Given the description of an element on the screen output the (x, y) to click on. 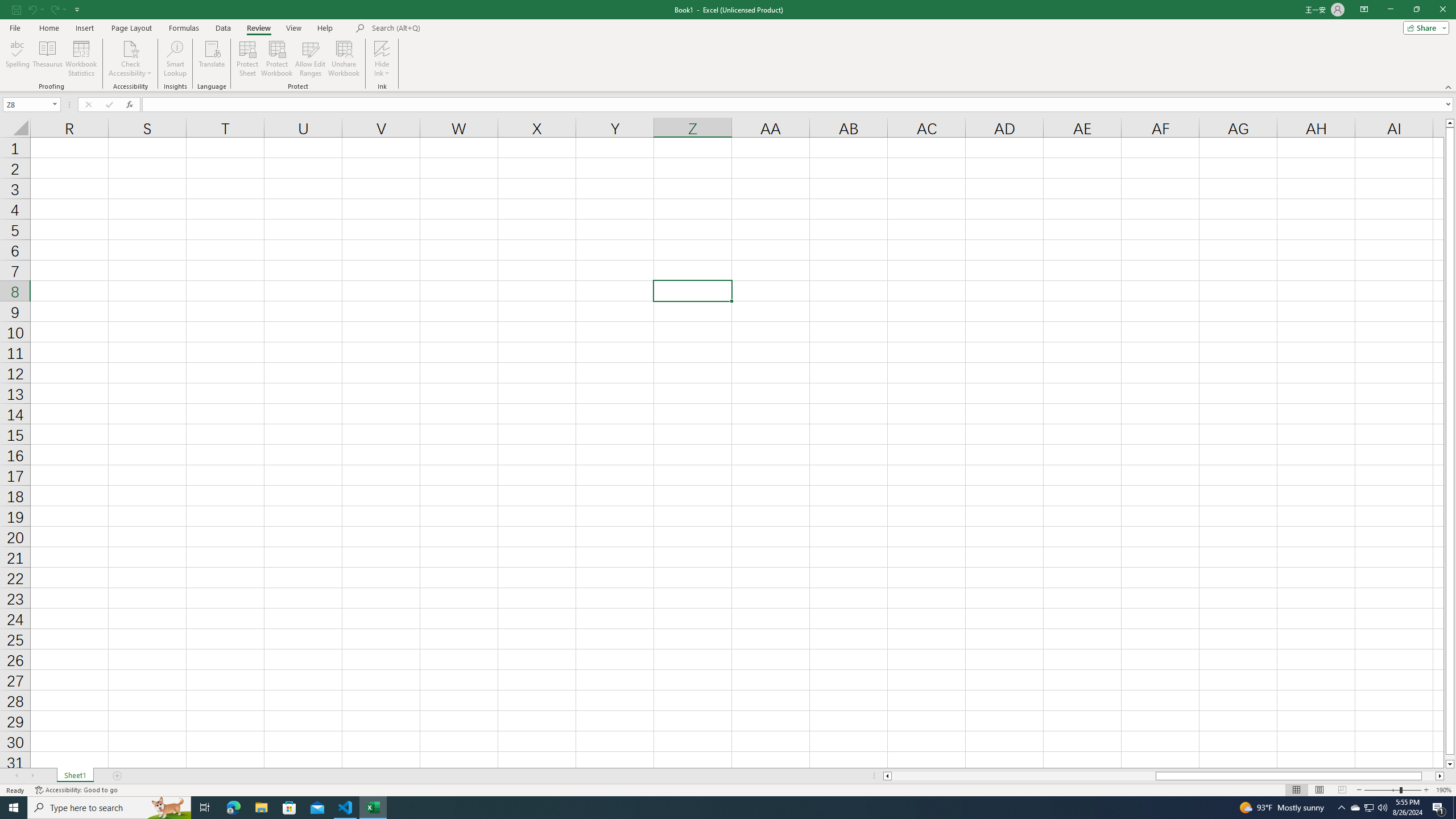
Workbook Statistics (81, 58)
Protect Sheet... (247, 58)
